Given the description of an element on the screen output the (x, y) to click on. 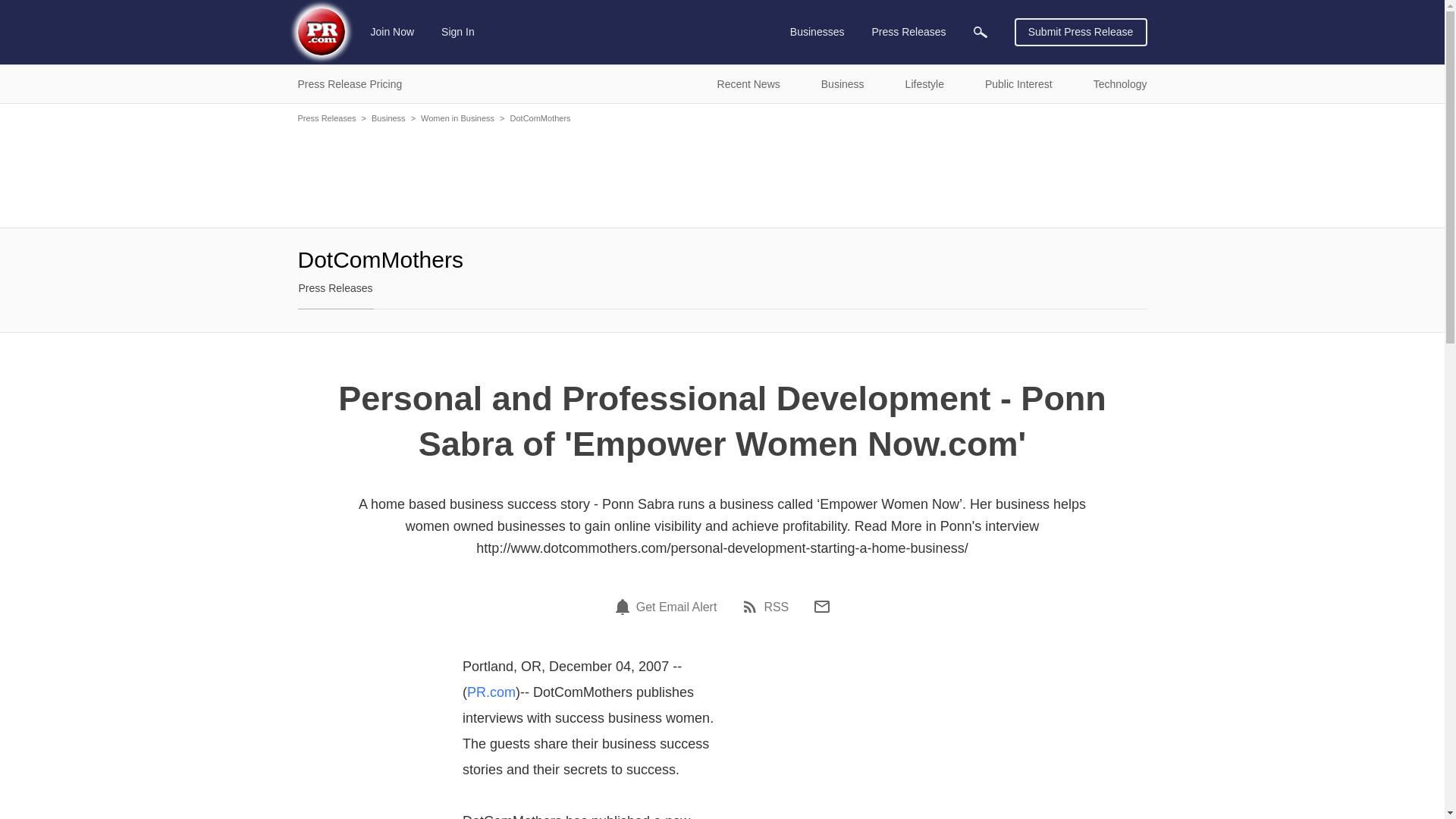
Press Releases (908, 31)
Sign In (458, 31)
Join Now (392, 31)
Businesses (817, 31)
Submit Press Release (1080, 31)
RSS news feed for DotComMothers (765, 606)
Get email alert for news from DotComMothers (664, 606)
